Given the description of an element on the screen output the (x, y) to click on. 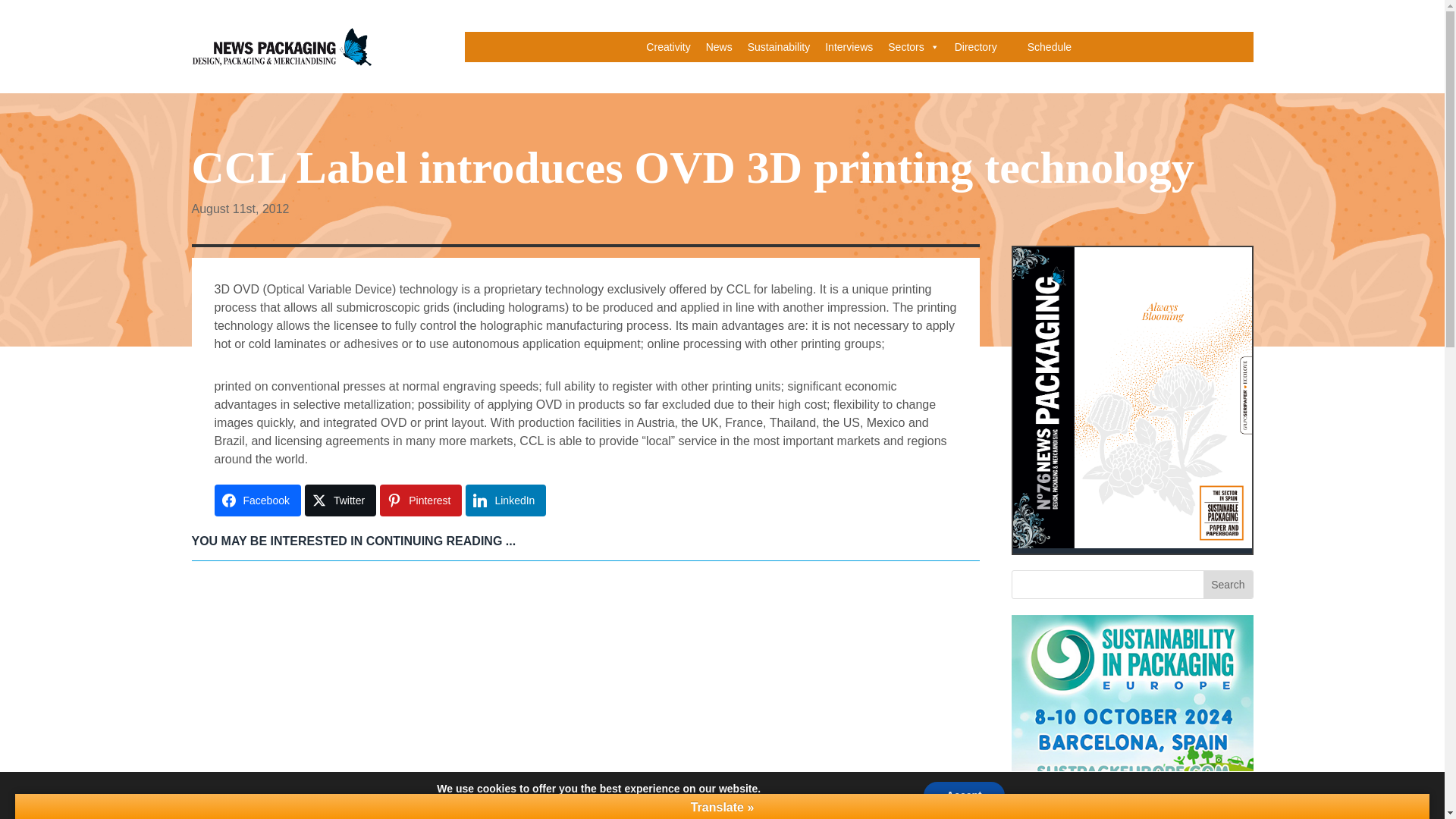
Creativity (668, 46)
Facebook (256, 500)
Schedule (1049, 46)
Pinterest (420, 500)
Directory (975, 46)
Search (1228, 584)
Sectors (913, 46)
Twitter (339, 500)
Share on LinkedIn (505, 500)
Logo News Packaging Dark (281, 46)
Search (1228, 584)
Share on Twitter (339, 500)
Share on Facebook (256, 500)
Interviews (848, 46)
Search (1228, 584)
